Given the description of an element on the screen output the (x, y) to click on. 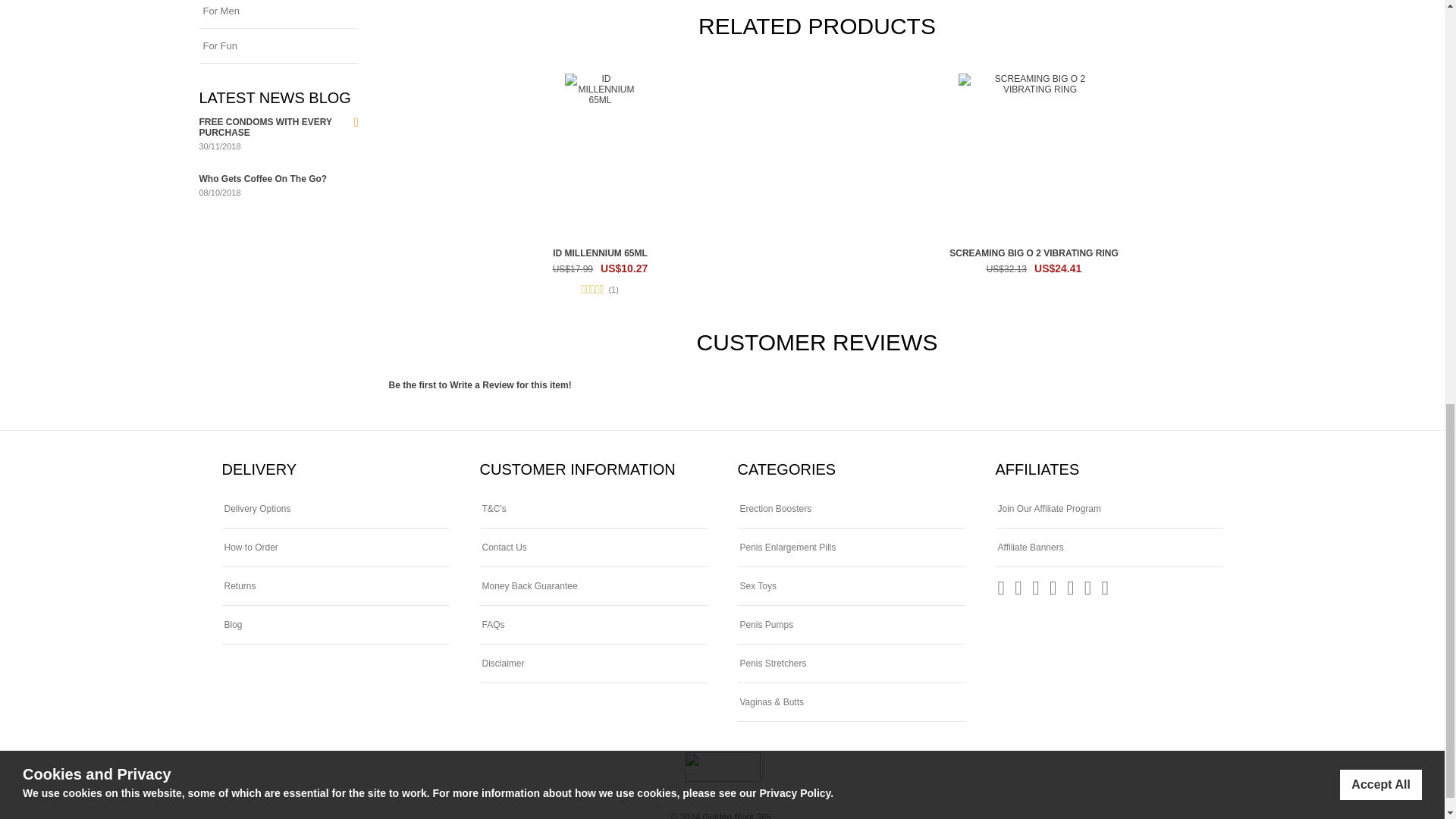
FREE CONDOMS WITH EVERY PURCHASE (264, 127)
For Men (278, 14)
For Fun (278, 45)
Who Gets Coffee On The Go? (262, 178)
